Given the description of an element on the screen output the (x, y) to click on. 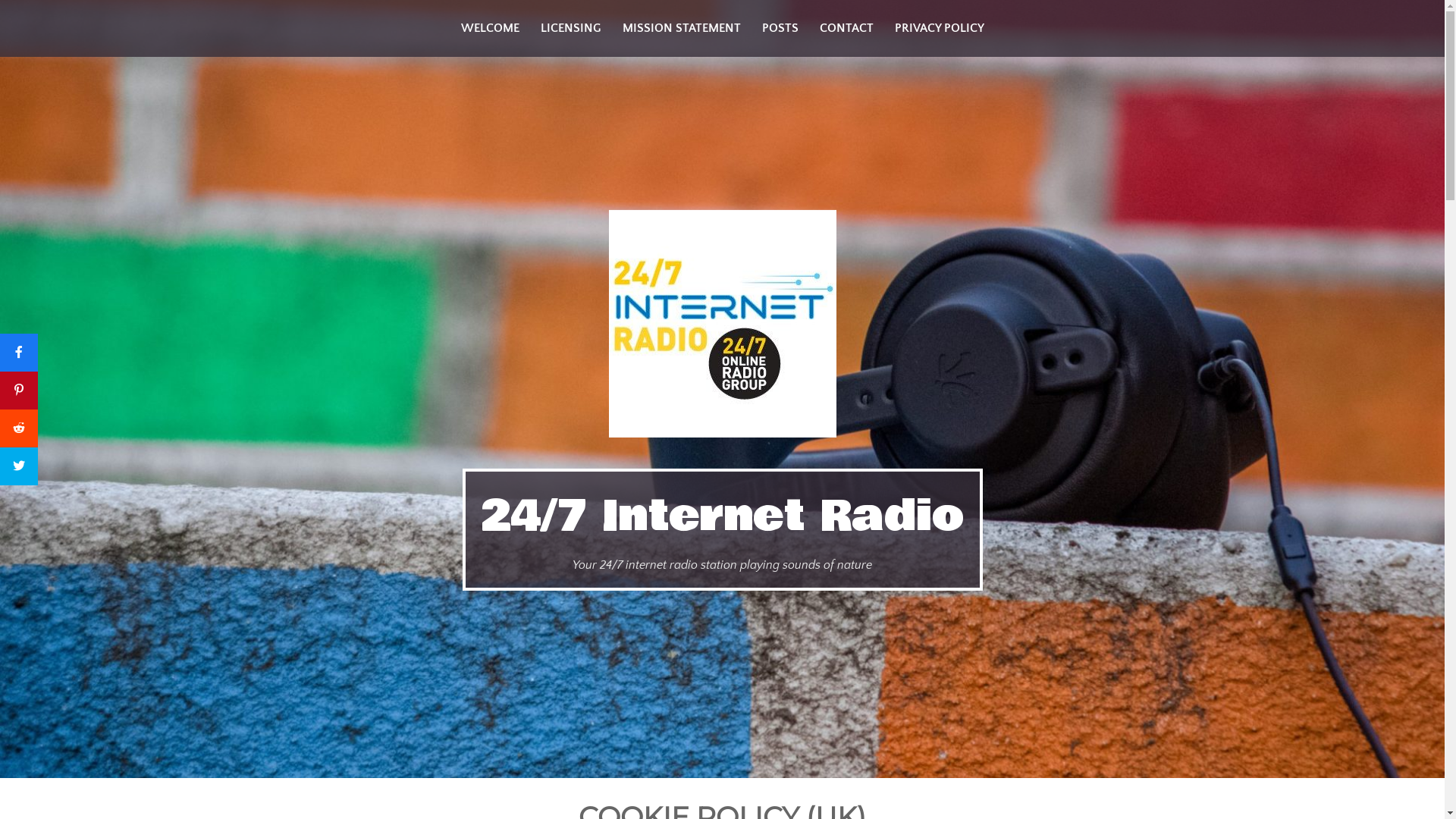
MISSION STATEMENT Element type: text (680, 28)
LICENSING Element type: text (569, 28)
POSTS Element type: text (779, 28)
24/7 Internet Radio Element type: text (722, 516)
CONTACT Element type: text (845, 28)
PRIVACY POLICY Element type: text (939, 28)
WELCOME Element type: text (489, 28)
